Given the description of an element on the screen output the (x, y) to click on. 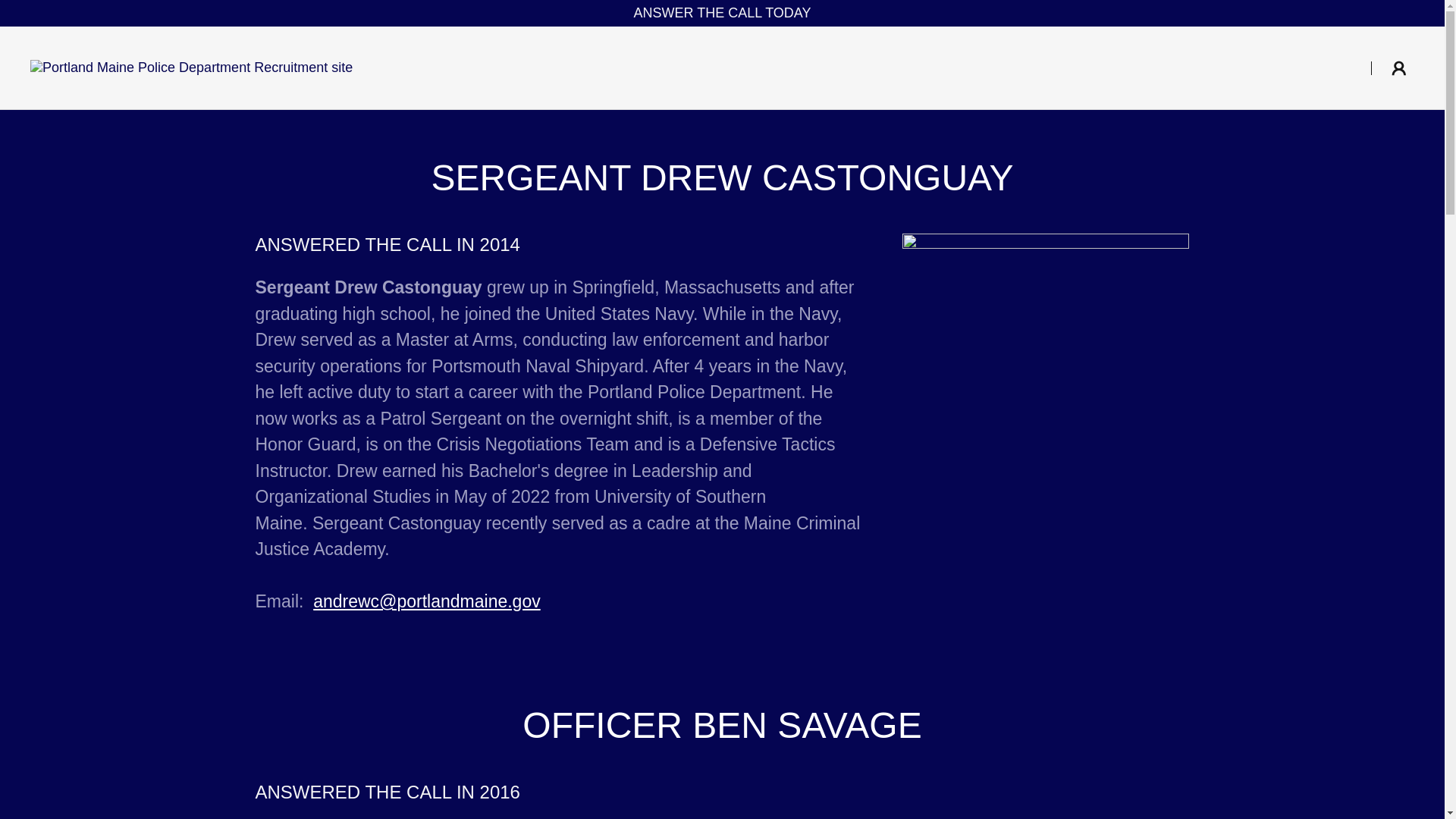
Portland Maine Police Department Recruitment site  (191, 67)
